Given the description of an element on the screen output the (x, y) to click on. 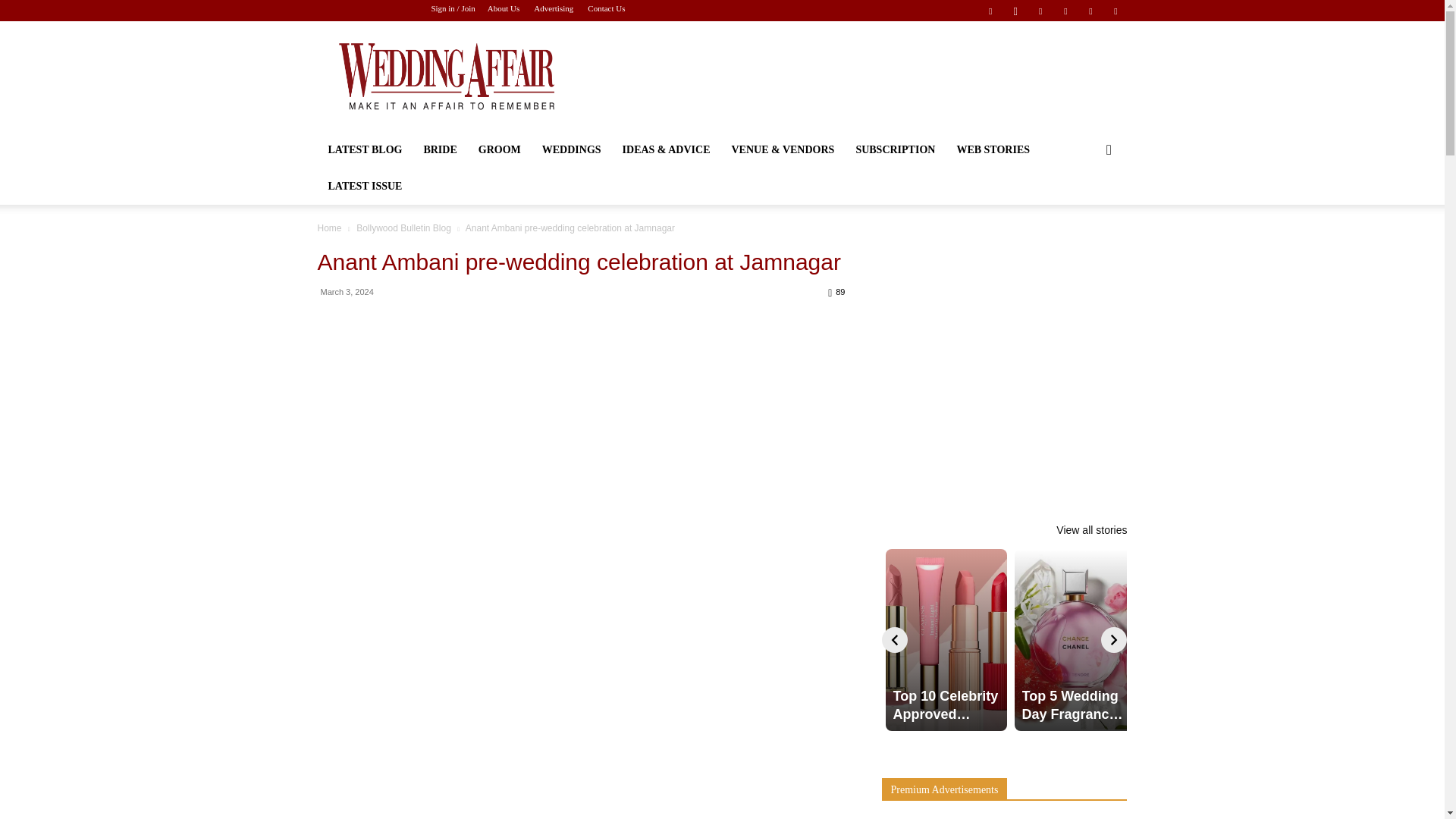
Wedding Affair Magazine  (445, 76)
Facebook (989, 11)
Instagram (1015, 11)
Twitter (1090, 11)
Advertisement (850, 76)
Mail (1065, 11)
Linkedin (1040, 11)
Youtube (1114, 11)
